Given the description of an element on the screen output the (x, y) to click on. 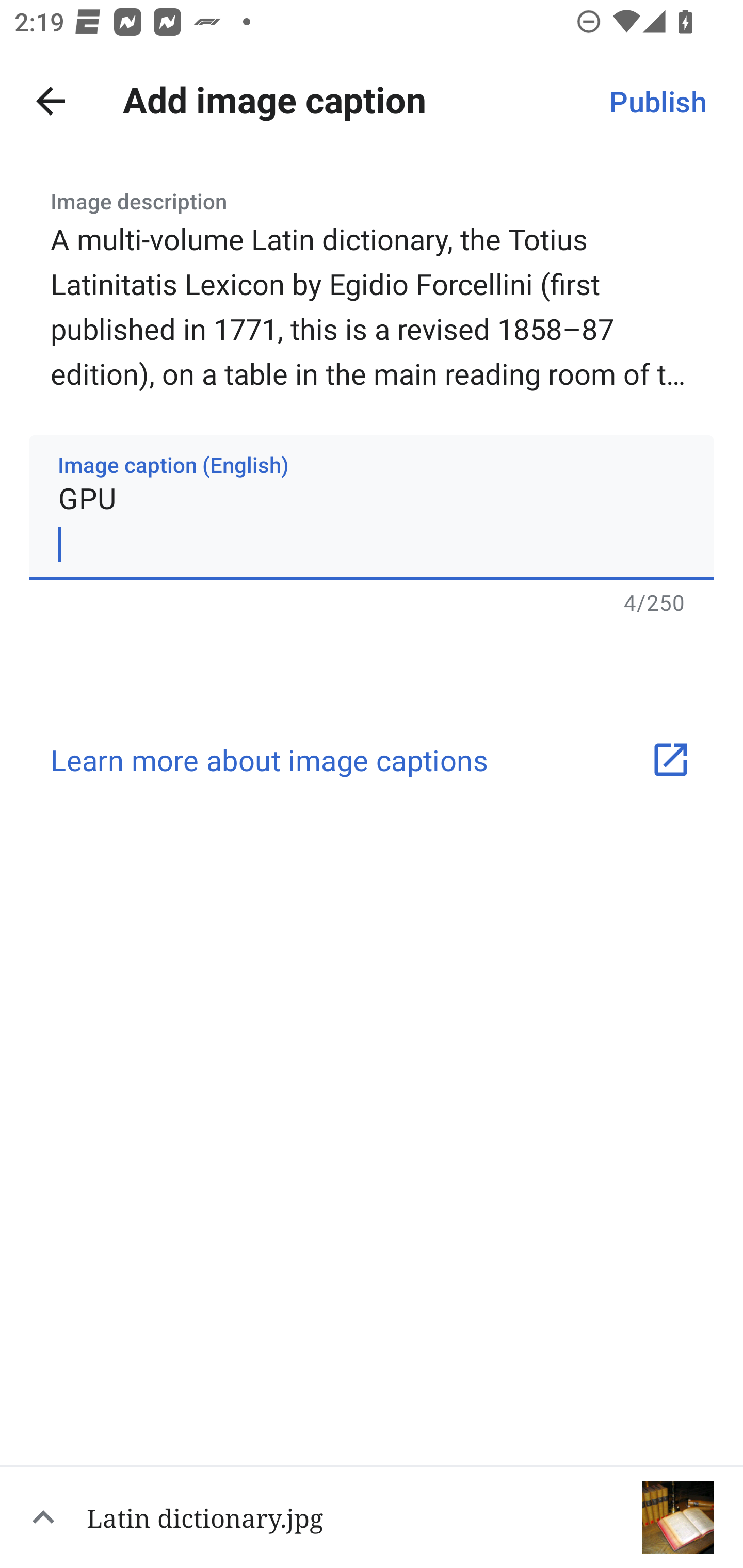
Cancel (50, 101)
Publish (657, 101)
GPU
 (371, 507)
Learn more about image captions (371, 759)
Latin dictionary.jpg (371, 1516)
